Given the description of an element on the screen output the (x, y) to click on. 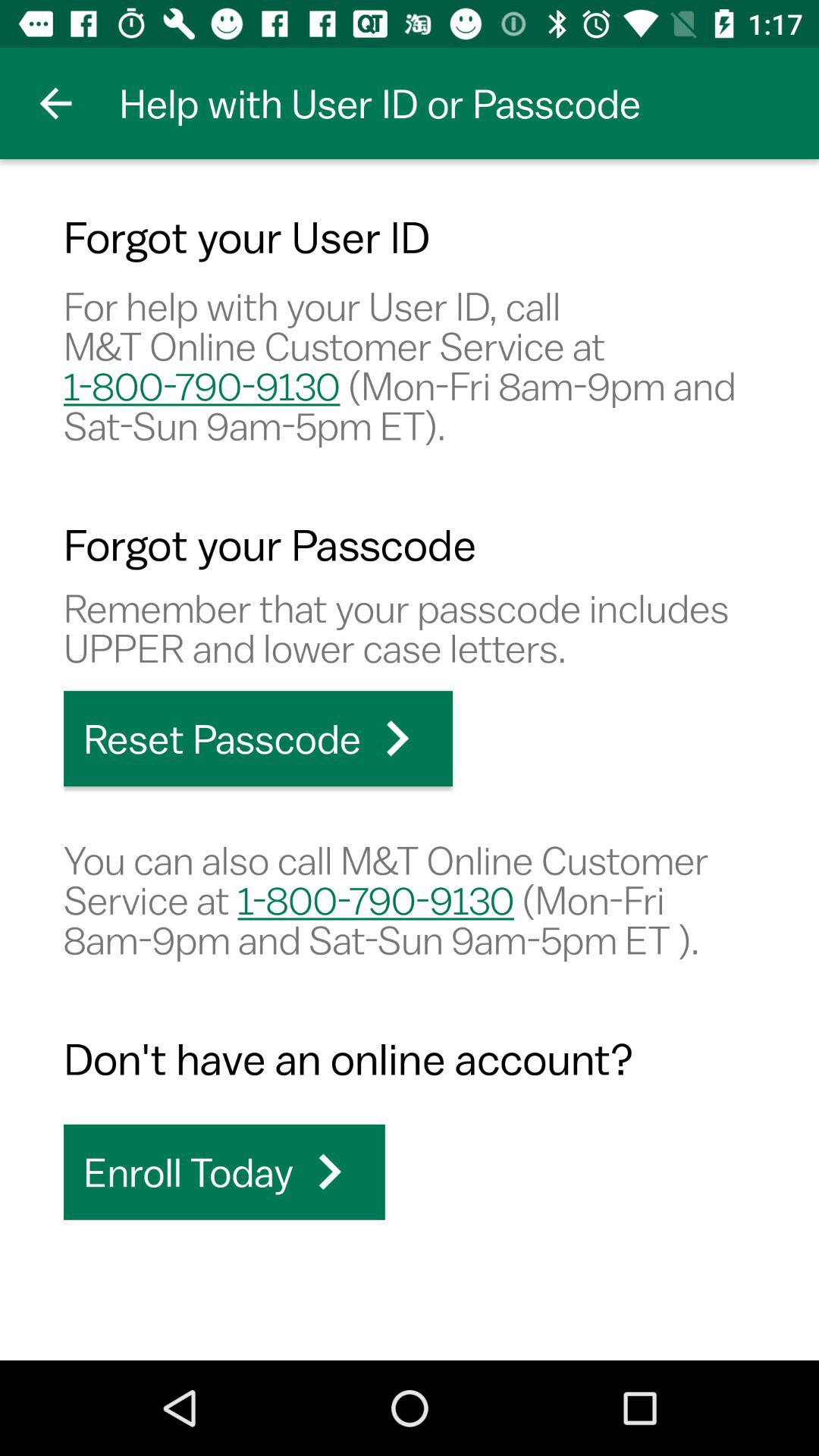
open the reset passcode (257, 738)
